Given the description of an element on the screen output the (x, y) to click on. 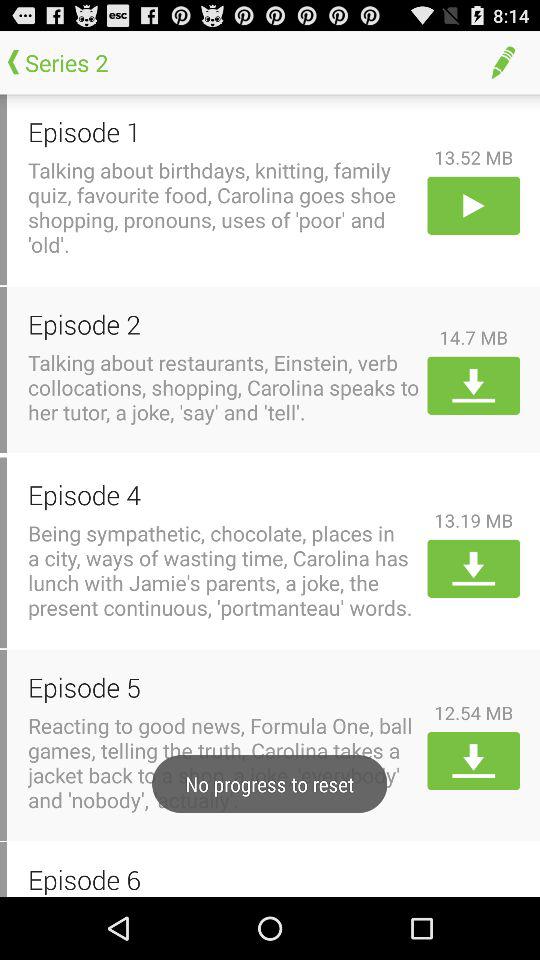
click item next to the 12.54 mb icon (224, 686)
